Given the description of an element on the screen output the (x, y) to click on. 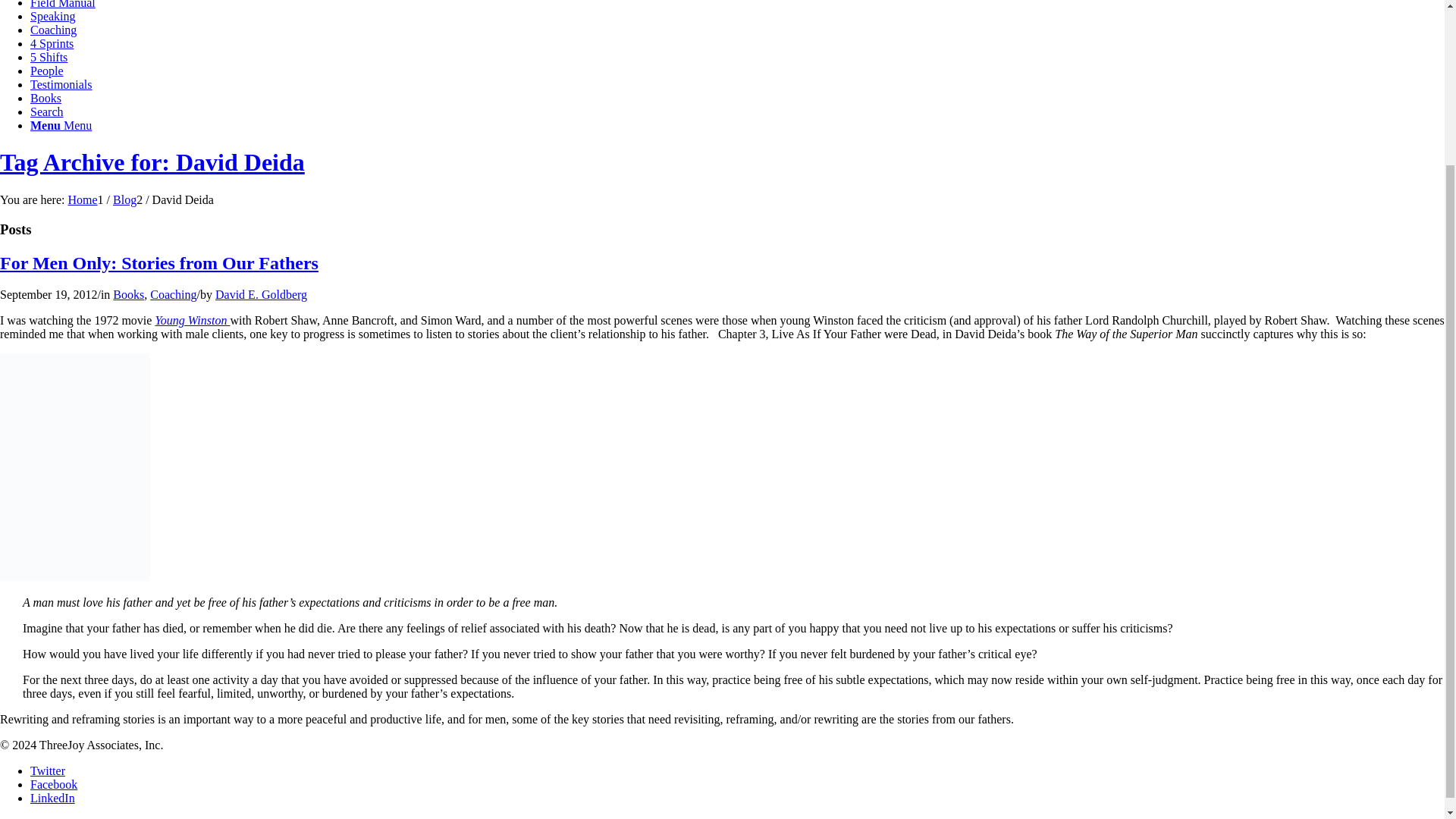
Coaching (172, 294)
For Men Only: Stories from Our Fathers (159, 261)
Posts by David E. Goldberg (261, 294)
4 Sprints (52, 42)
People (47, 70)
imdb Young Winston (192, 319)
LinkedIn (52, 797)
Books (128, 294)
Permanent Link: For Men Only: Stories from Our Fathers (159, 261)
Blog (124, 199)
5 Shifts (48, 56)
Young Winston (192, 319)
Coaching (53, 29)
Home (81, 199)
Speaking (52, 15)
